Given the description of an element on the screen output the (x, y) to click on. 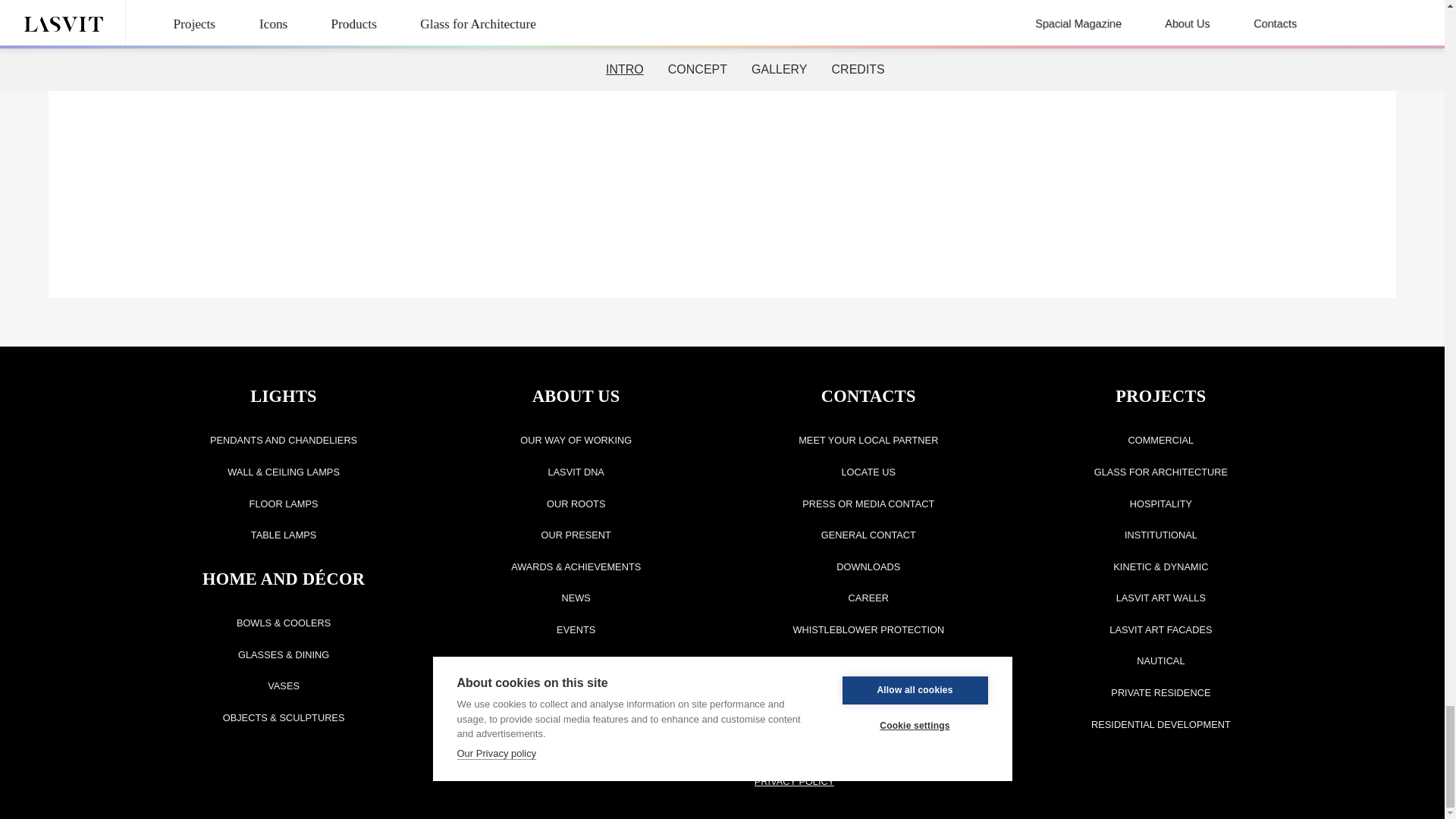
TABLE LAMPS (283, 534)
PROFILE (1058, 1)
FLOOR LAMPS (283, 503)
VASES (283, 685)
PENDANTS AND CHANDELIERS (283, 439)
OUR WAY OF WORKING (575, 439)
